Given the description of an element on the screen output the (x, y) to click on. 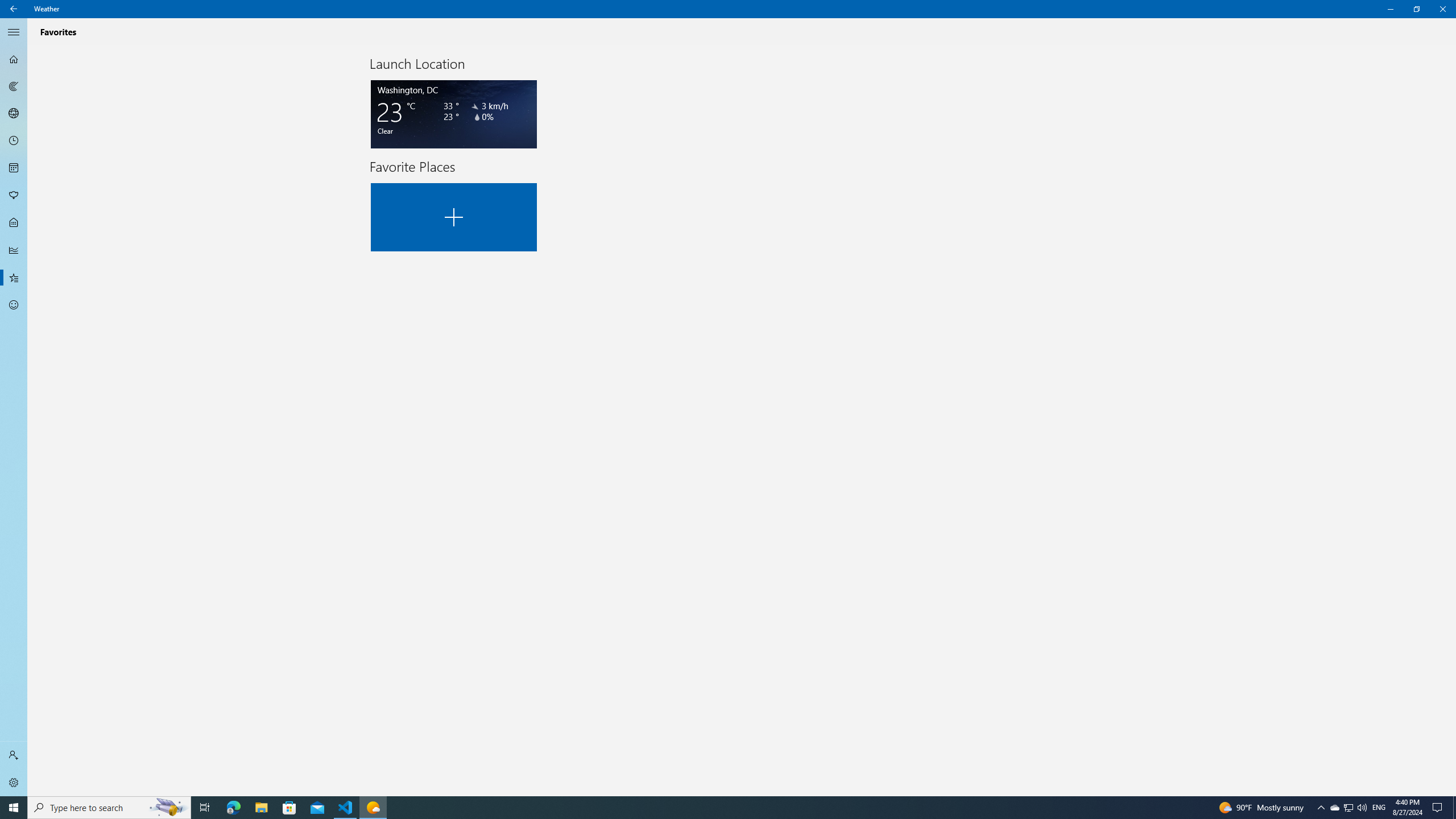
Pollen - Not Selected (13, 195)
Type here to search (108, 807)
Visual Studio Code - 1 running window (345, 807)
Maps - Not Selected (13, 85)
Send Feedback - Not Selected (13, 304)
Hourly Forecast - Not Selected (13, 140)
Notification Chevron (1320, 807)
Add to Favorites (454, 217)
Life - Not Selected (13, 222)
Pollen - Not Selected (1333, 807)
Send Feedback - Not Selected (13, 195)
Maps - Not Selected (13, 304)
